Given the description of an element on the screen output the (x, y) to click on. 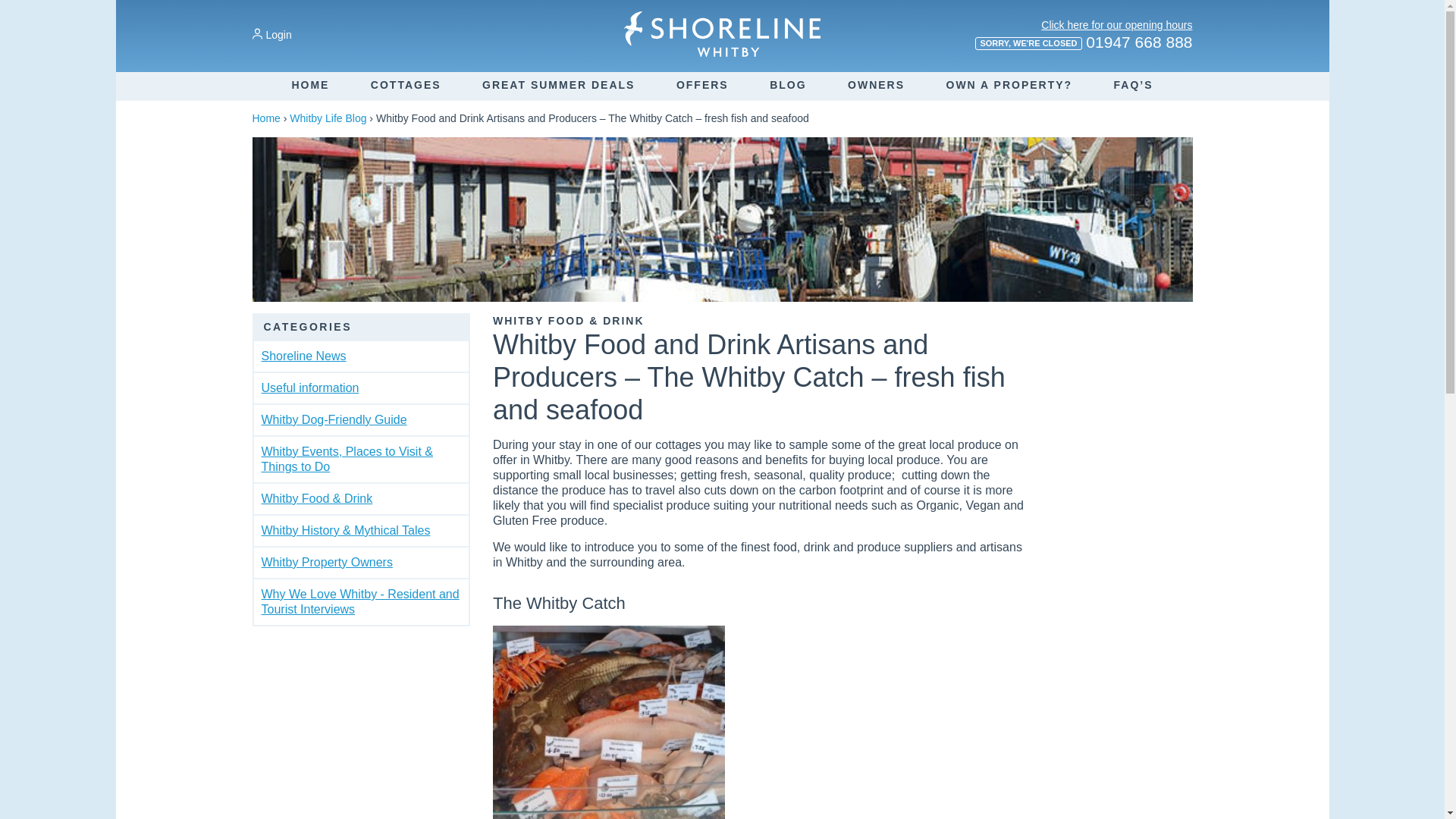
OFFERS (703, 84)
Useful information (309, 387)
HOME (310, 84)
Whitby Property Owners (325, 562)
Login (271, 34)
Why We Love Whitby - Resident and Tourist Interviews (359, 601)
GREAT SUMMER DEALS (557, 84)
Click here for our opening hours (1116, 24)
Whitby Dog-Friendly Guide (333, 419)
OWN A PROPERTY? (1009, 84)
OWNERS (875, 84)
Home (265, 118)
Whitby Life Blog (327, 118)
Shoreline Whitby Cottages (722, 33)
SORRY, WE'RE CLOSED 01947 668 888 (1083, 46)
